Given the description of an element on the screen output the (x, y) to click on. 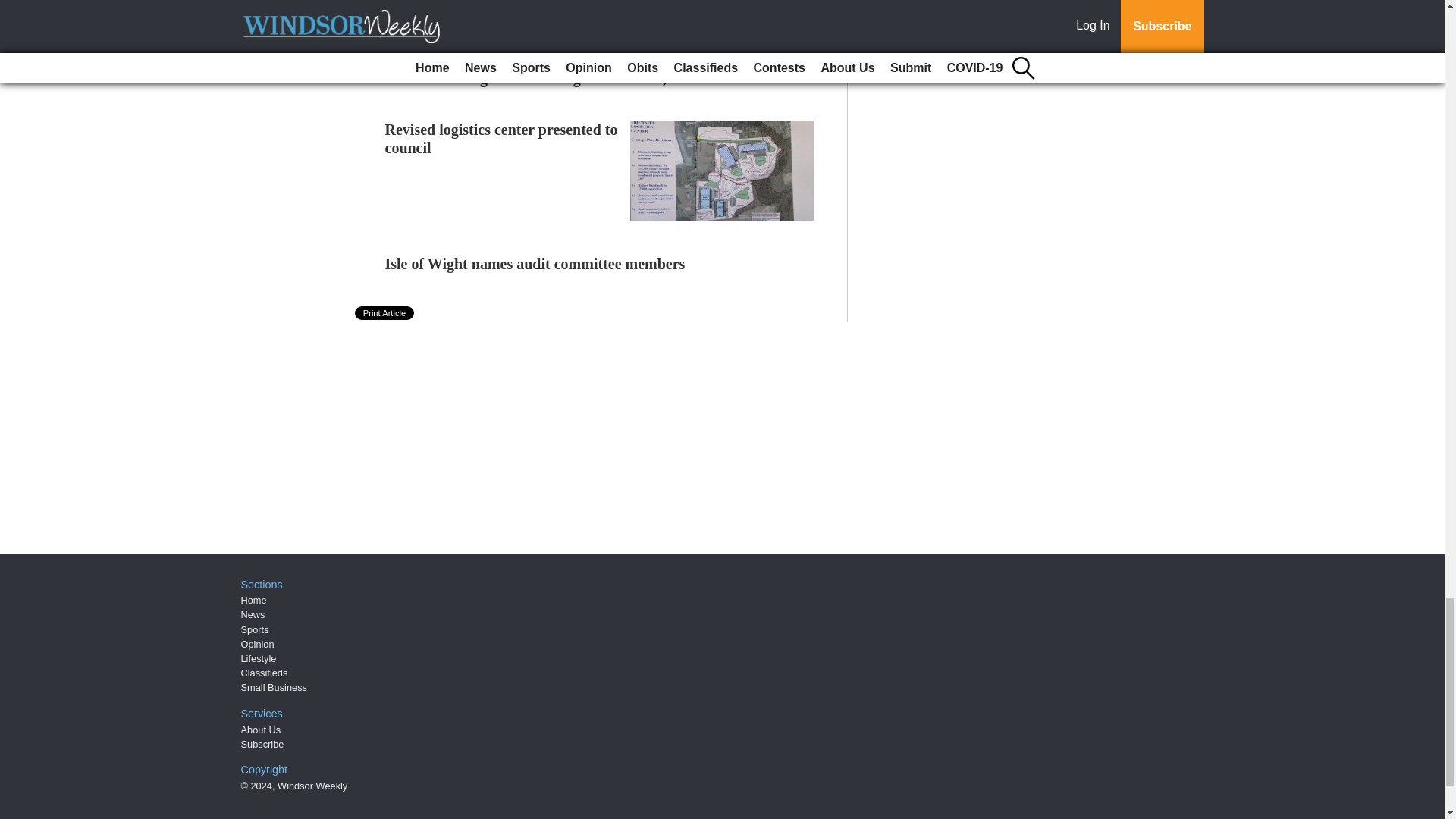
Subscribe (262, 744)
Classifieds (264, 672)
Isle of Wight names audit committee members (535, 263)
Print Article (384, 313)
IW proposes building new Windsor library (524, 26)
Volunteers sought for Drainage Committee, EDAs (547, 77)
News (252, 614)
Volunteers sought for Drainage Committee, EDAs (547, 77)
About Us (261, 729)
Sports (255, 629)
